Given the description of an element on the screen output the (x, y) to click on. 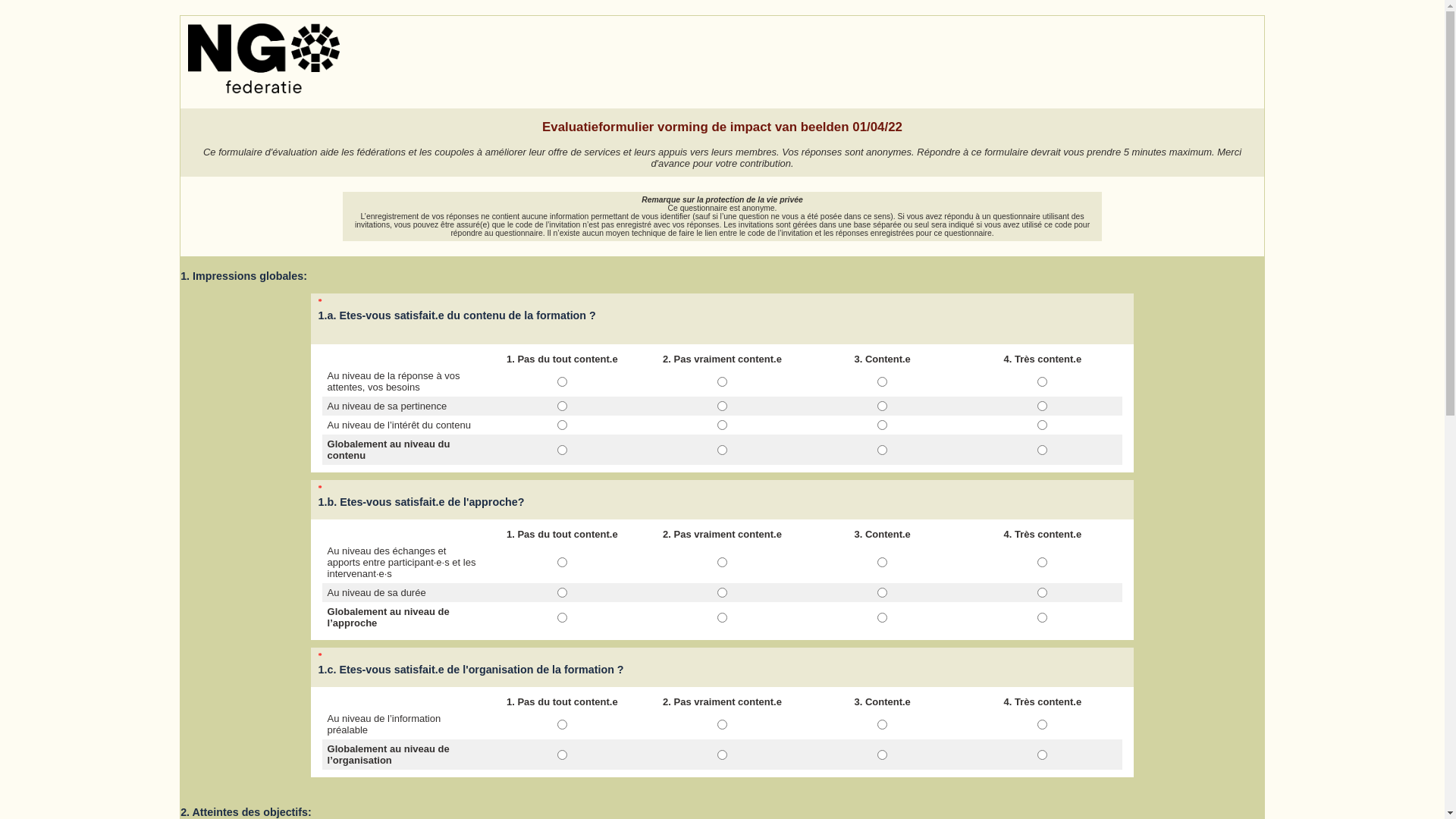
3 Element type: text (882, 424)
1 Element type: text (562, 450)
1. Pas du tout content.e Element type: hover (562, 424)
A2 Element type: text (722, 754)
A4 Element type: text (1042, 592)
3. Content.e Element type: hover (882, 562)
2. Pas vraiment content.e Element type: hover (722, 381)
A4 Element type: text (1042, 724)
3. Content.e   Element type: hover (882, 450)
A3 Element type: text (882, 754)
A1 Element type: text (562, 724)
A4 Element type: text (1042, 754)
2. Pas vraiment content.e Element type: hover (722, 406)
2. Pas vraiment content.e Element type: hover (722, 450)
3. Content.e Element type: hover (882, 617)
3. Content.e Element type: hover (882, 592)
2. Pas vraiment content.e Element type: hover (722, 592)
A1 Element type: text (562, 562)
1. Pas du tout content.e Element type: hover (562, 617)
1 Element type: text (562, 424)
A1 Element type: text (562, 592)
A2 Element type: text (722, 617)
2. Pas vraiment content.e  Element type: hover (722, 724)
A1 Element type: text (562, 617)
1. Pas du tout content.e Element type: hover (562, 381)
3. Content.e   Element type: hover (882, 406)
2. Pas vraiment content.e Element type: hover (722, 617)
4 Element type: text (1042, 406)
3. Content.e   Element type: hover (882, 754)
2. Pas vraiment content.e  Element type: hover (722, 754)
2 Element type: text (722, 381)
A1 Element type: text (562, 754)
2. Pas vraiment content.e Element type: hover (722, 424)
2 Element type: text (722, 450)
A2 Element type: text (722, 562)
3 Element type: text (882, 406)
3. Content.e   Element type: hover (882, 424)
A3 Element type: text (882, 562)
1 Element type: text (562, 406)
A2 Element type: text (722, 724)
2. Pas vraiment content.e Element type: hover (722, 562)
3. Content.e   Element type: hover (882, 724)
4 Element type: text (1042, 381)
3 Element type: text (882, 450)
A2 Element type: text (722, 592)
4 Element type: text (1042, 424)
2 Element type: text (722, 424)
3 Element type: text (882, 381)
A3 Element type: text (882, 592)
1. Pas du tout content.e  Element type: hover (562, 754)
A3 Element type: text (882, 617)
1. Pas du tout content.e Element type: hover (562, 406)
4 Element type: text (1042, 450)
3. Content.e   Element type: hover (882, 381)
A4 Element type: text (1042, 617)
1. Pas du tout content.e Element type: hover (562, 450)
2 Element type: text (722, 406)
1. Pas du tout content.e Element type: hover (562, 562)
1. Pas du tout content.e  Element type: hover (562, 724)
A4 Element type: text (1042, 562)
A3 Element type: text (882, 724)
1 Element type: text (562, 381)
1. Pas du tout content.e Element type: hover (562, 592)
